Given the description of an element on the screen output the (x, y) to click on. 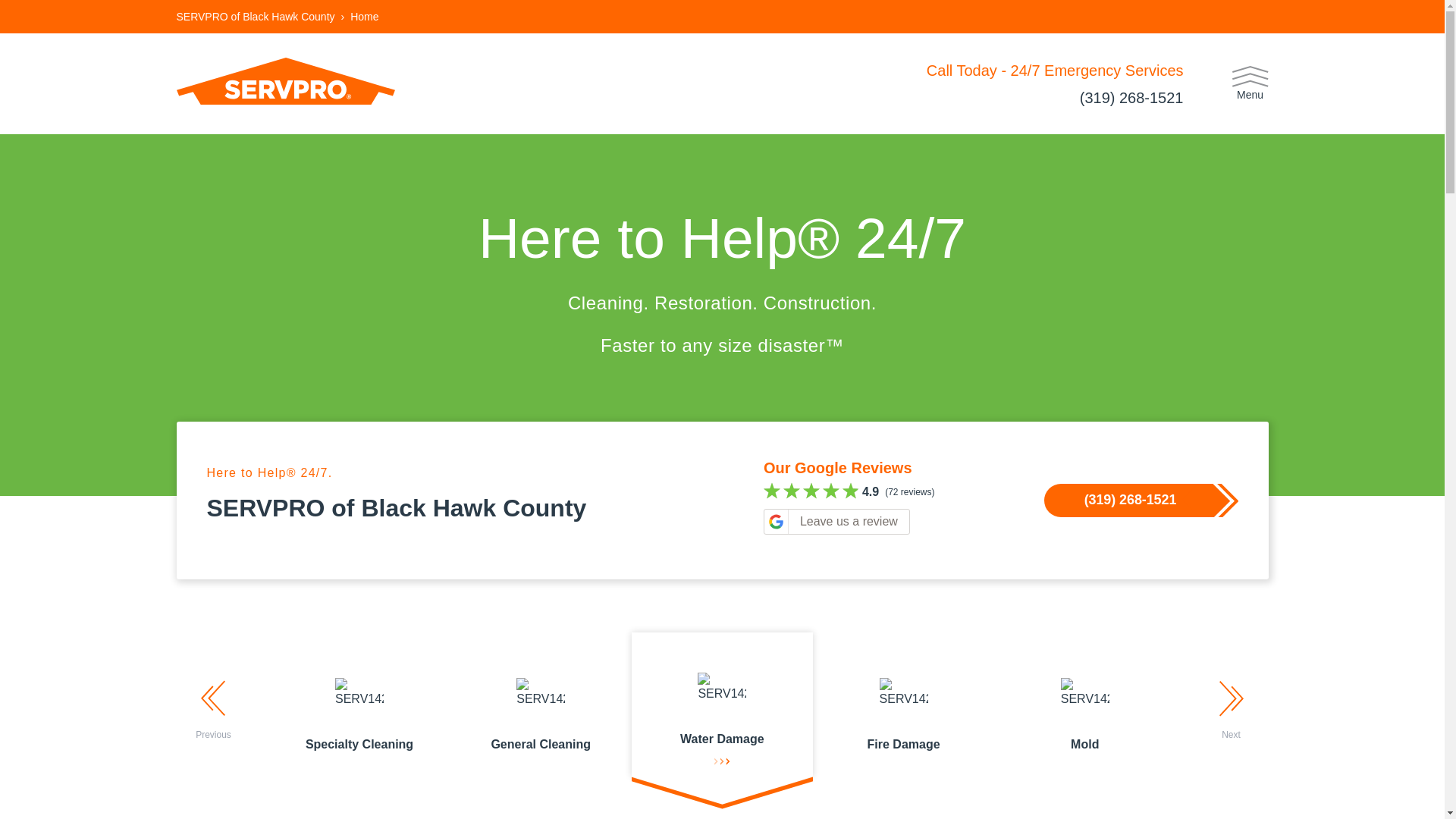
Leave us a review (836, 521)
Menu (1249, 83)
